Given the description of an element on the screen output the (x, y) to click on. 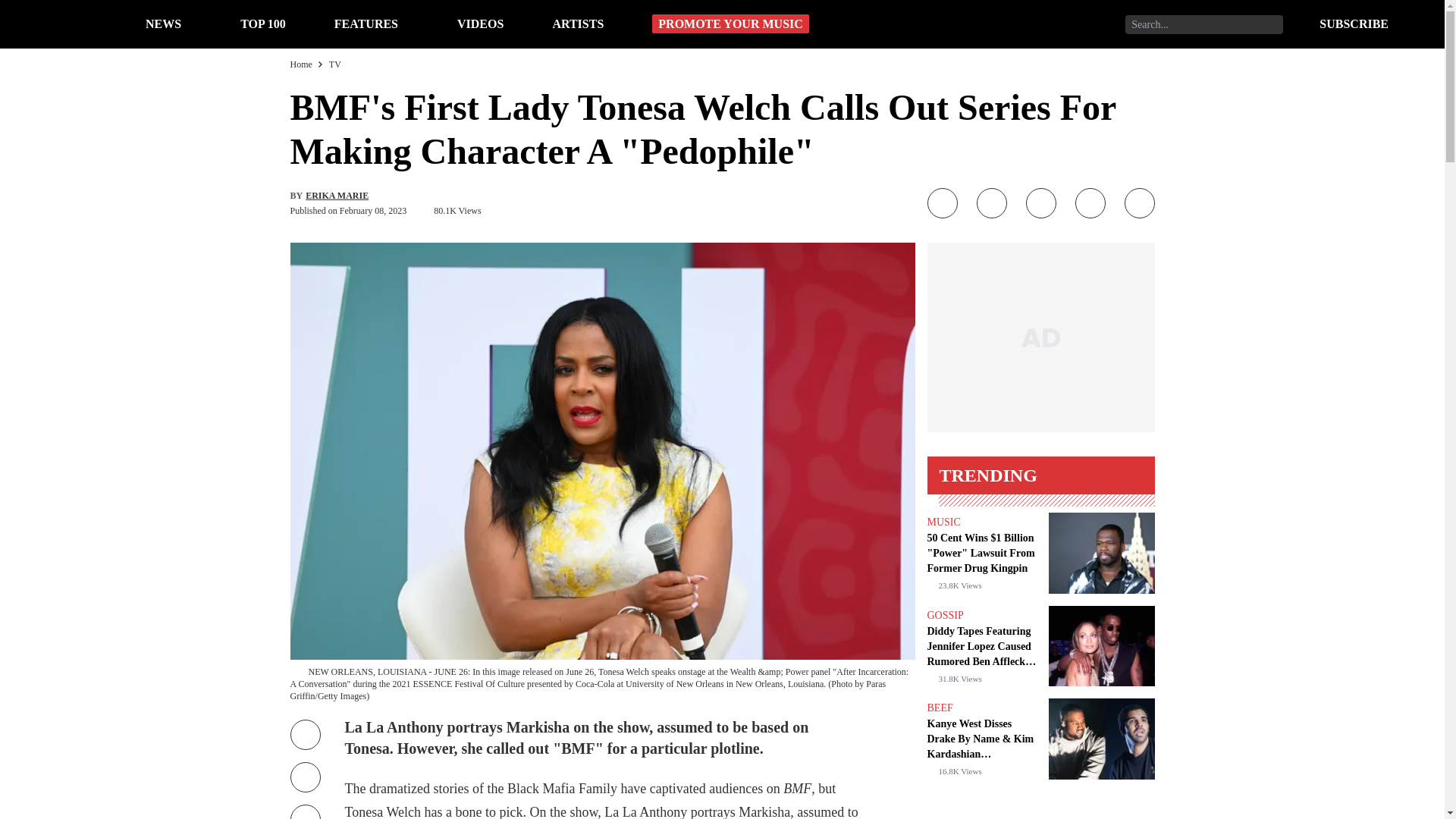
ERIKA MARIE (336, 195)
TV (334, 63)
MUSIC (942, 521)
GOSSIP (944, 614)
Home (300, 63)
February 08, 2023 (372, 210)
